Given the description of an element on the screen output the (x, y) to click on. 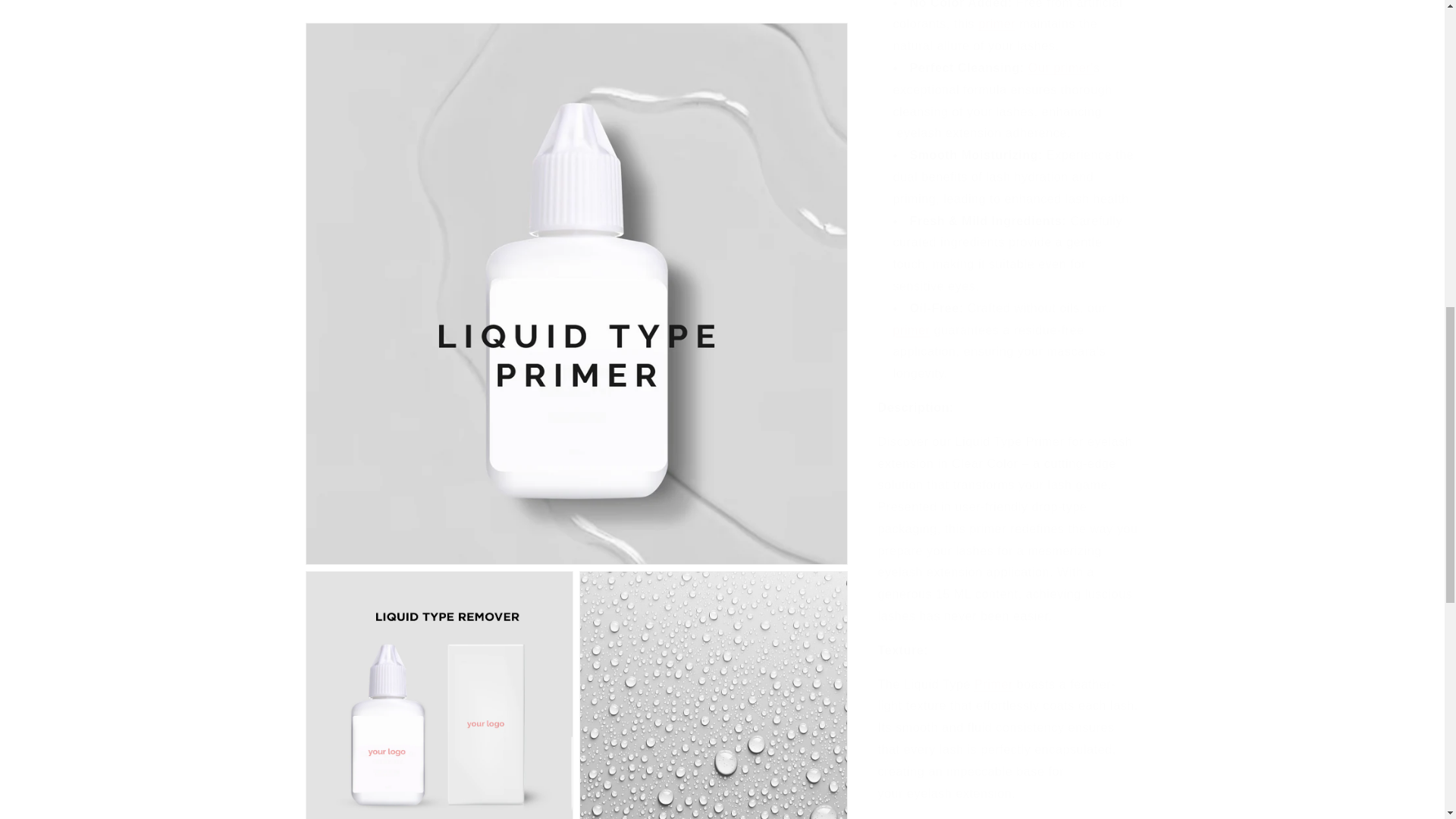
Open media 2 in modal (438, 85)
Open media 3 in modal (713, 85)
Herb-primer-spray-type (996, 11)
Herb-primer-spray-type (1060, 56)
Pure-primer (911, 318)
Open media 4 in modal (438, 310)
pure-primer (993, 672)
